Given the description of an element on the screen output the (x, y) to click on. 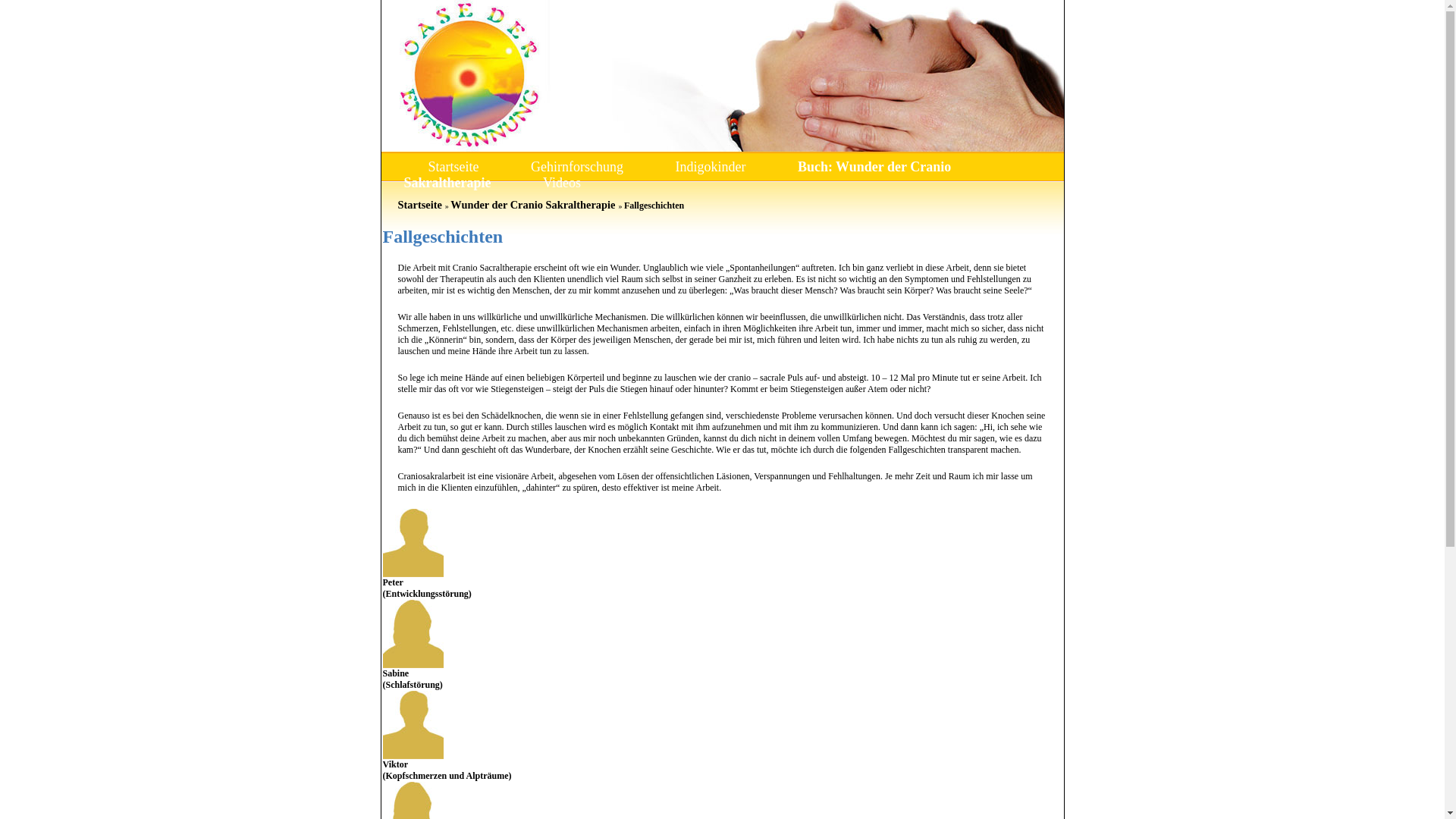
Wunder der Cranio Sakraltherapie Element type: text (532, 204)
Startseite Element type: text (452, 166)
Indigokinder Element type: text (709, 166)
Gehirnforschung Element type: text (576, 166)
Buch: Wunder der Cranio Sakraltherapie Element type: text (676, 174)
Startseite Element type: text (419, 204)
Videos Element type: text (561, 182)
